Given the description of an element on the screen output the (x, y) to click on. 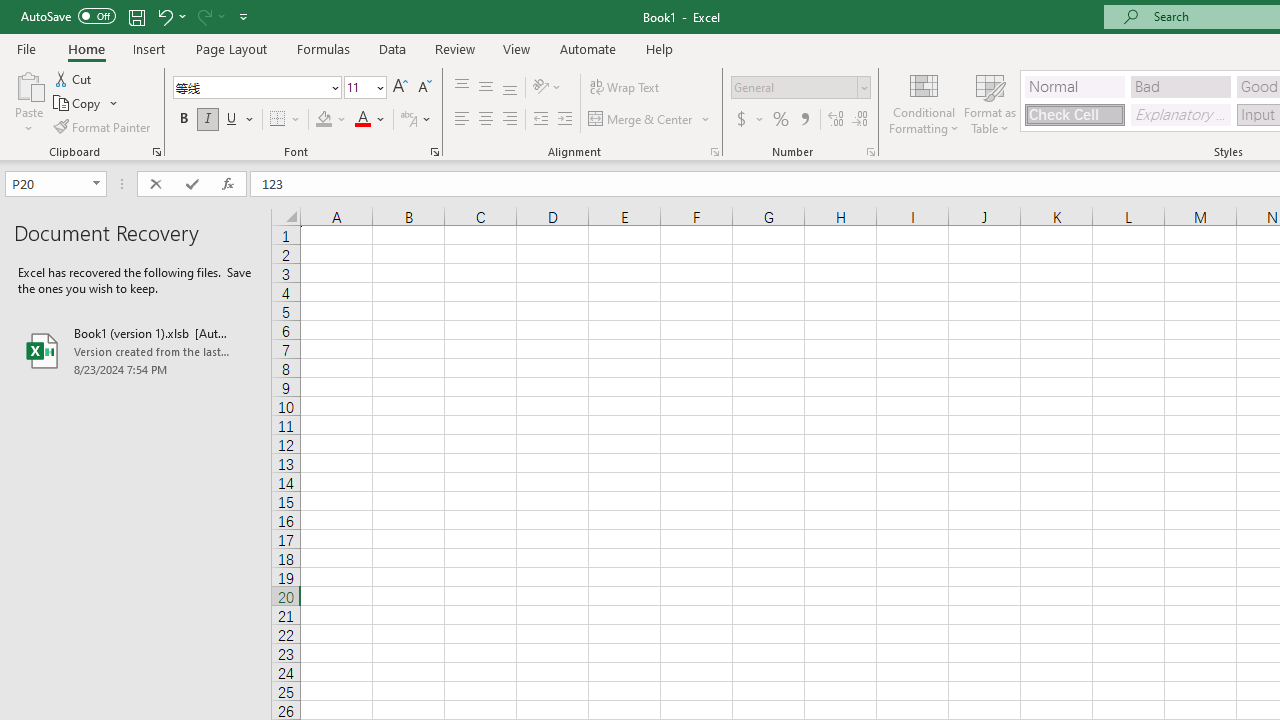
Fill Color RGB(255, 255, 0) (324, 119)
Automate (588, 48)
Format Cell Number (870, 151)
Show Phonetic Field (416, 119)
Fill Color (331, 119)
Wrap Text (624, 87)
Office Clipboard... (156, 151)
Normal (1074, 86)
Cut (73, 78)
Bold (183, 119)
Book1 (version 1).xlsb  [AutoRecovered] (136, 350)
Insert (149, 48)
Percent Style (781, 119)
